Given the description of an element on the screen output the (x, y) to click on. 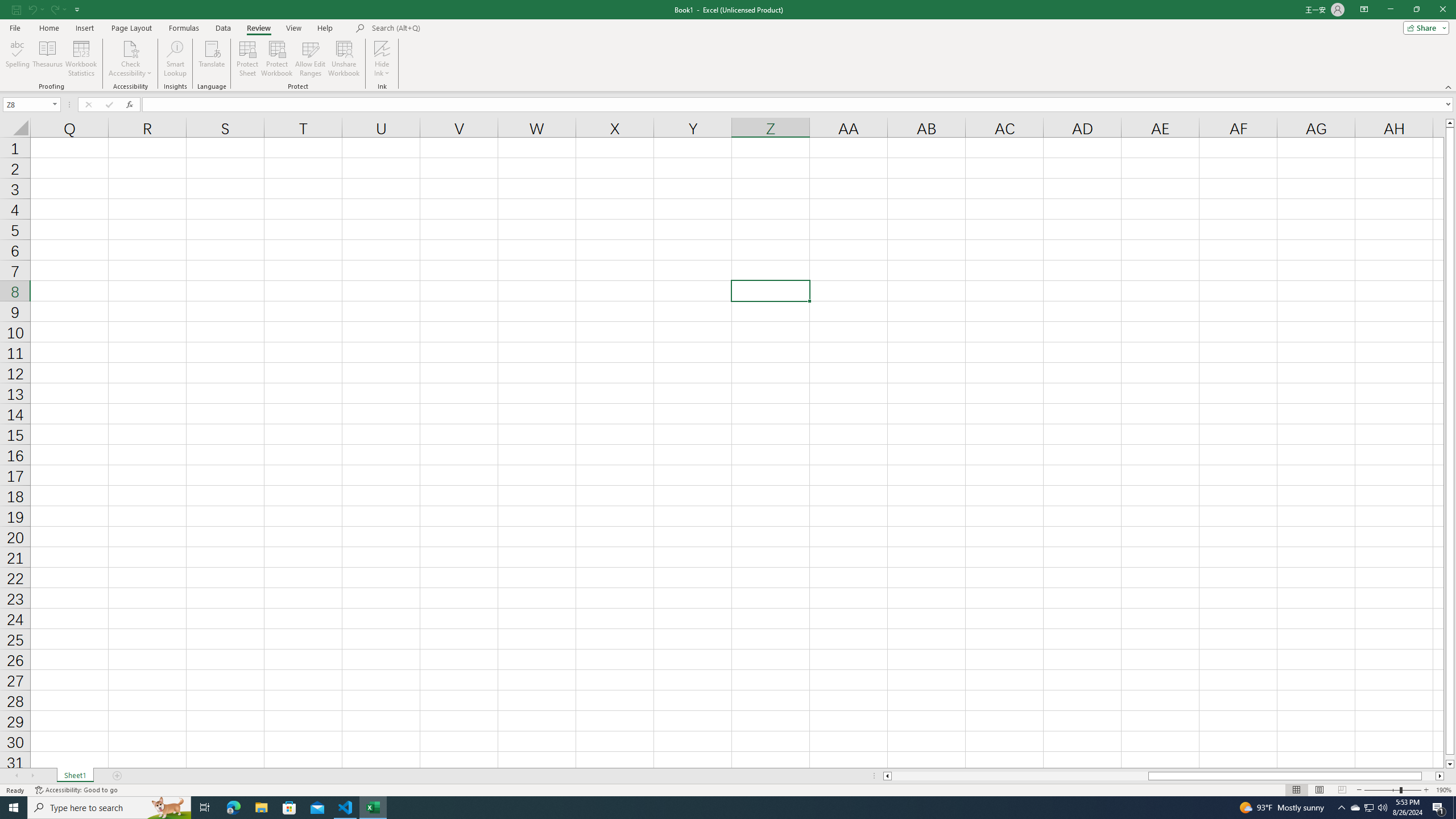
Insert (83, 28)
Add Sheet (117, 775)
Undo (35, 9)
Zoom (1392, 790)
Redo (53, 9)
Scroll Left (16, 775)
Protect Sheet... (247, 58)
Column left (886, 775)
Ribbon Display Options (1364, 9)
File Tab (15, 27)
Name Box (30, 104)
Hide Ink (381, 58)
Page Layout (1318, 790)
Smart Lookup (175, 58)
Quick Access Toolbar (46, 9)
